Given the description of an element on the screen output the (x, y) to click on. 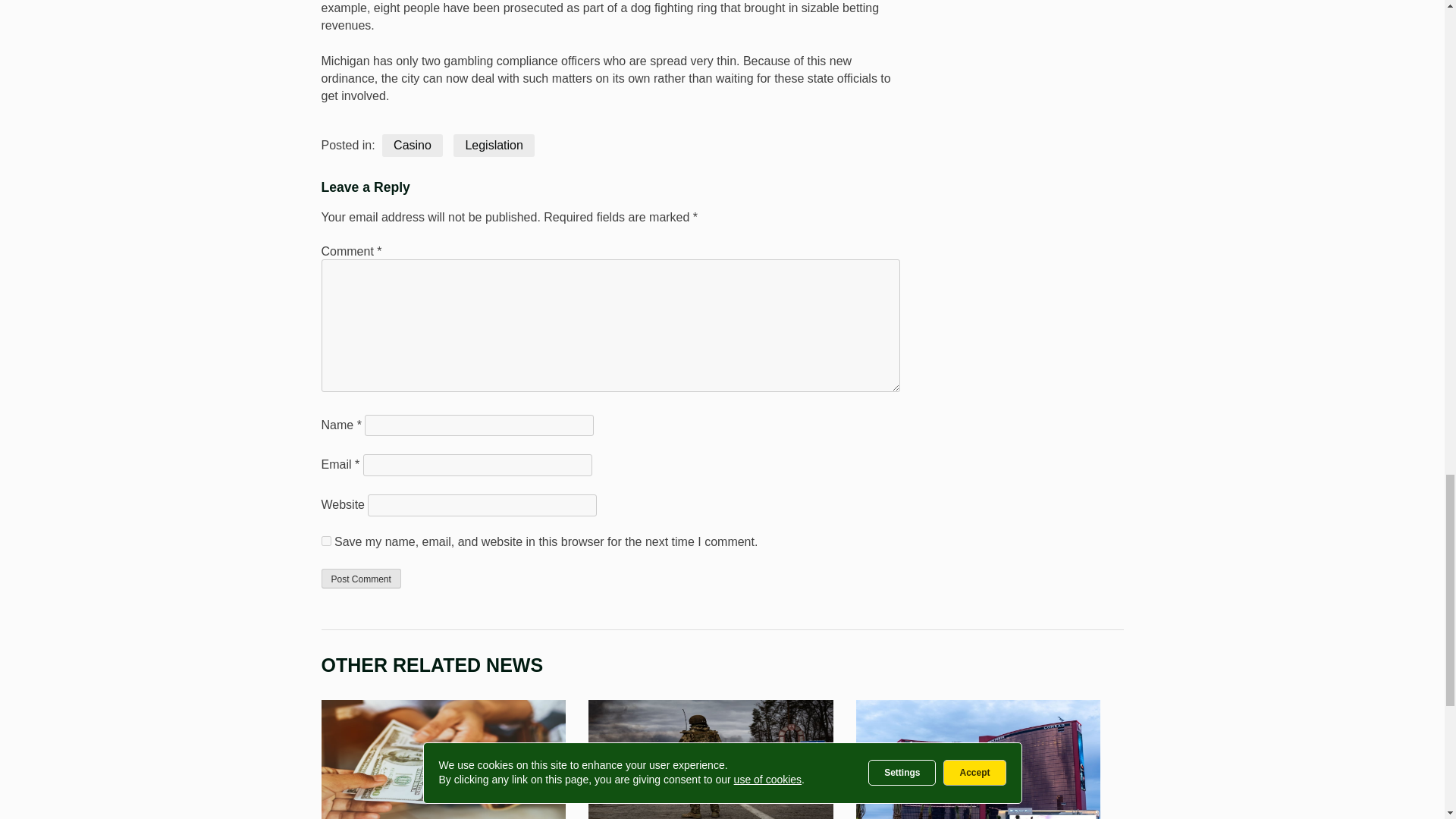
Legislation (493, 146)
Post Comment (361, 578)
Casino (411, 146)
yes (326, 541)
Post Comment (361, 578)
